Given the description of an element on the screen output the (x, y) to click on. 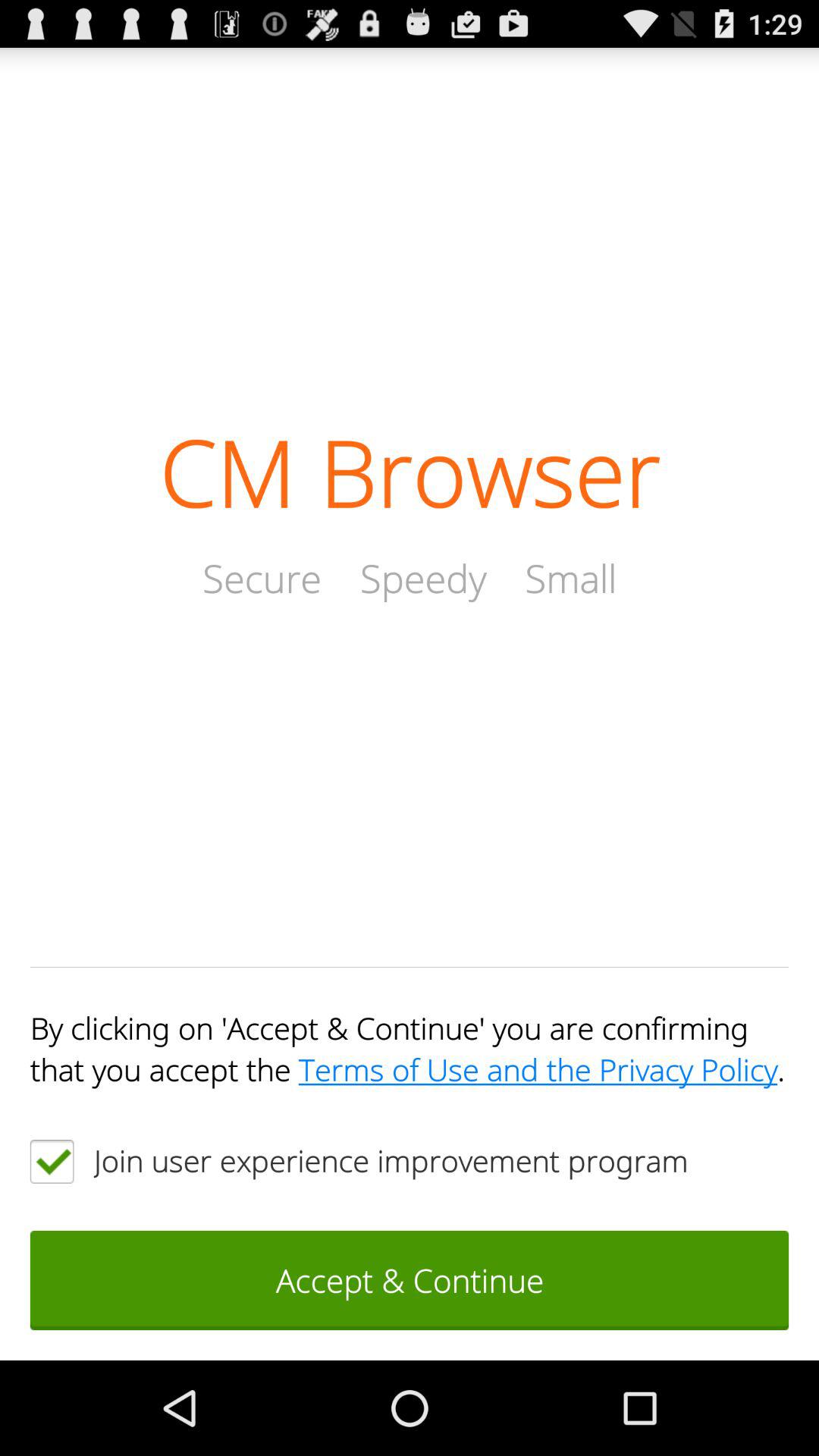
click checkbox (51, 1161)
